Given the description of an element on the screen output the (x, y) to click on. 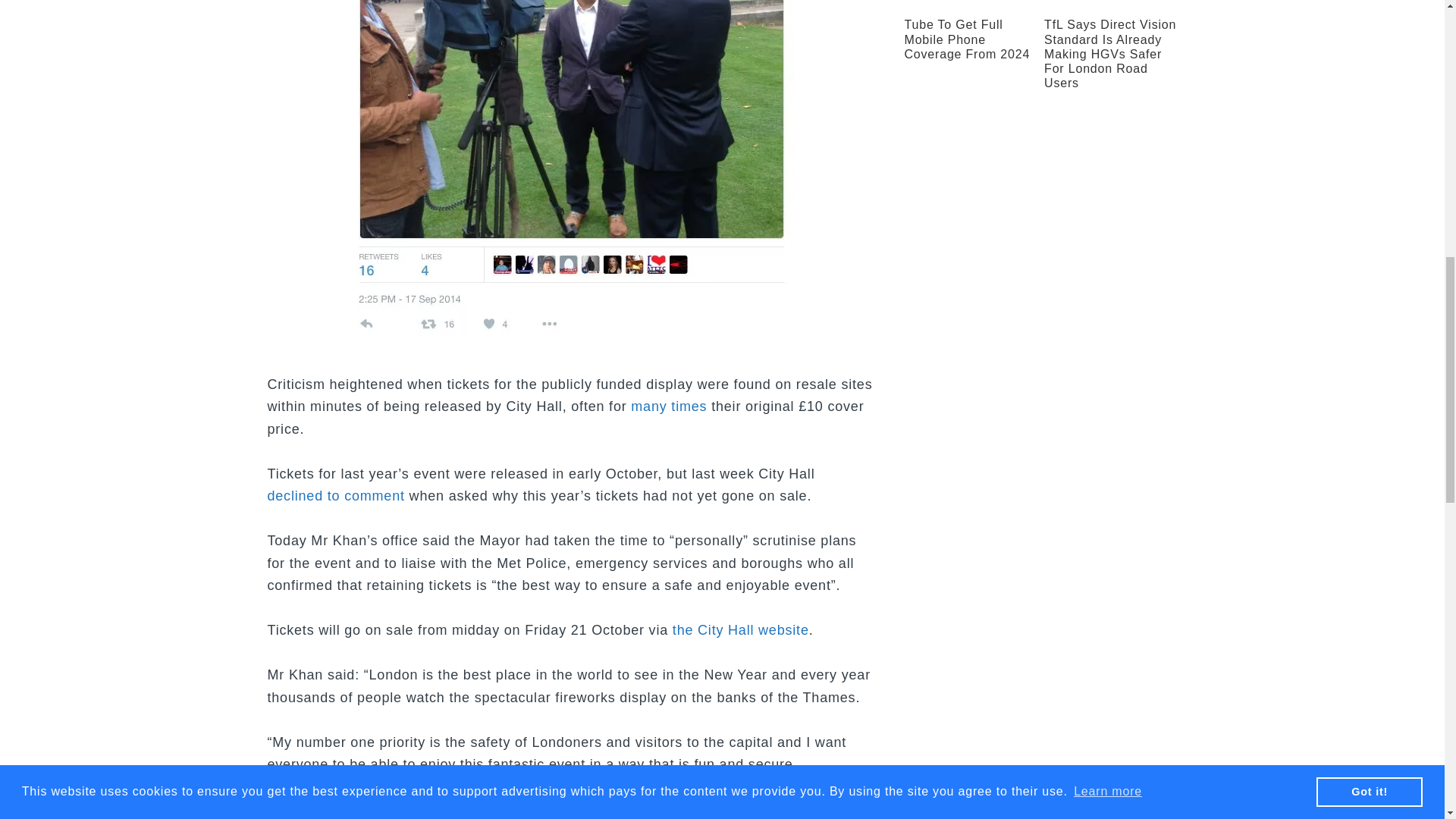
declined to comment (335, 495)
the City Hall website (740, 630)
Tube To Get Full Mobile Phone Coverage From 2024 (966, 38)
many times (668, 406)
